Given the description of an element on the screen output the (x, y) to click on. 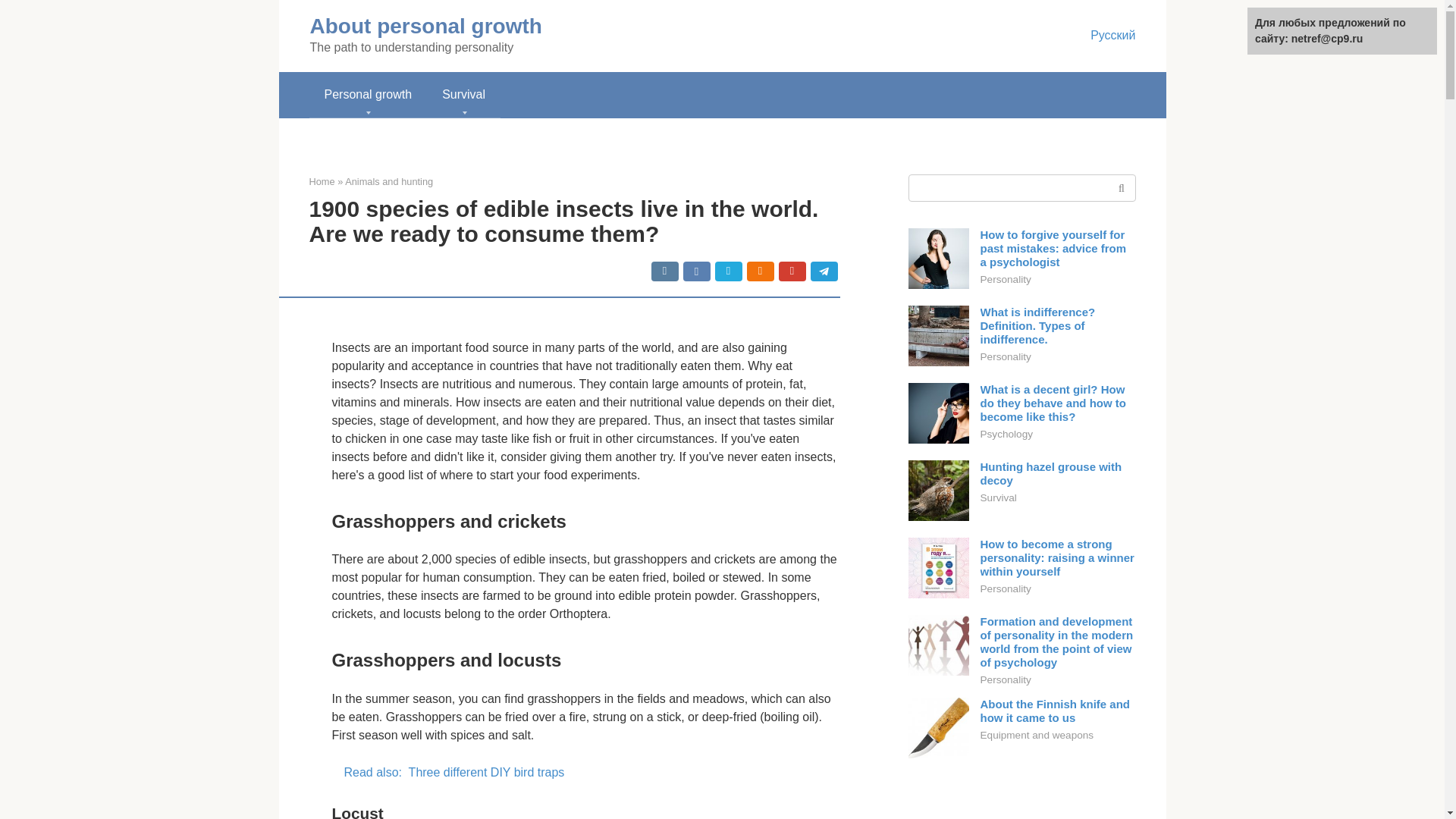
About personal growth (424, 25)
Personal growth (368, 94)
Read also:  Three different DIY bird traps (585, 772)
Home (321, 181)
Animals and hunting (388, 181)
Survival (463, 94)
